Given the description of an element on the screen output the (x, y) to click on. 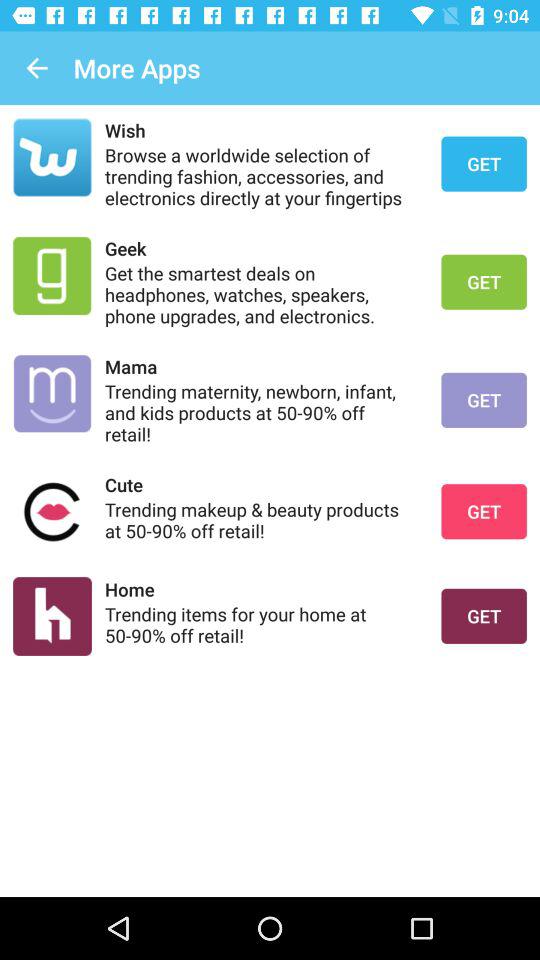
launch the item next to more apps (36, 68)
